Given the description of an element on the screen output the (x, y) to click on. 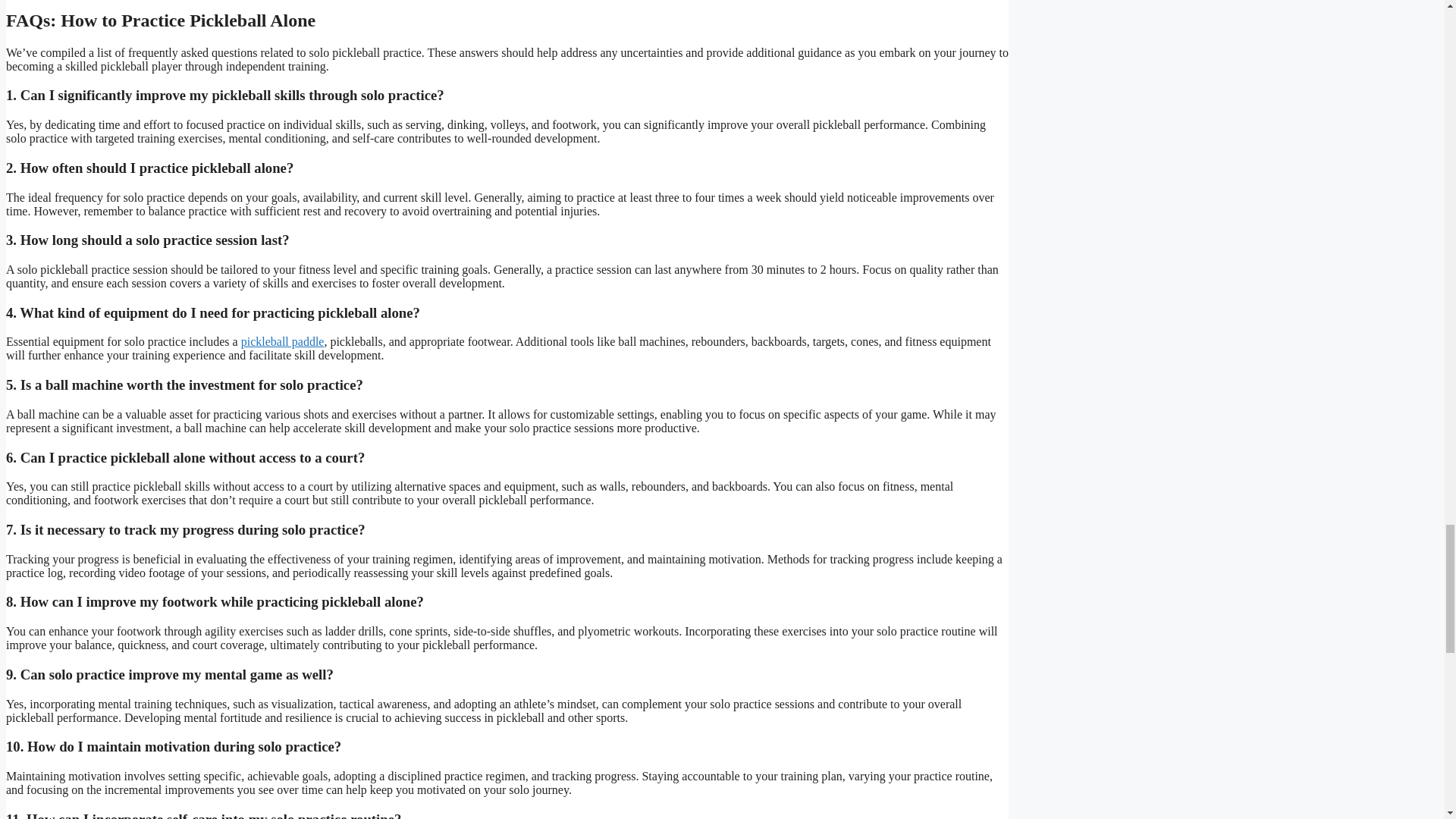
pickleball paddle (282, 341)
pickleball paddle (282, 341)
